Given the description of an element on the screen output the (x, y) to click on. 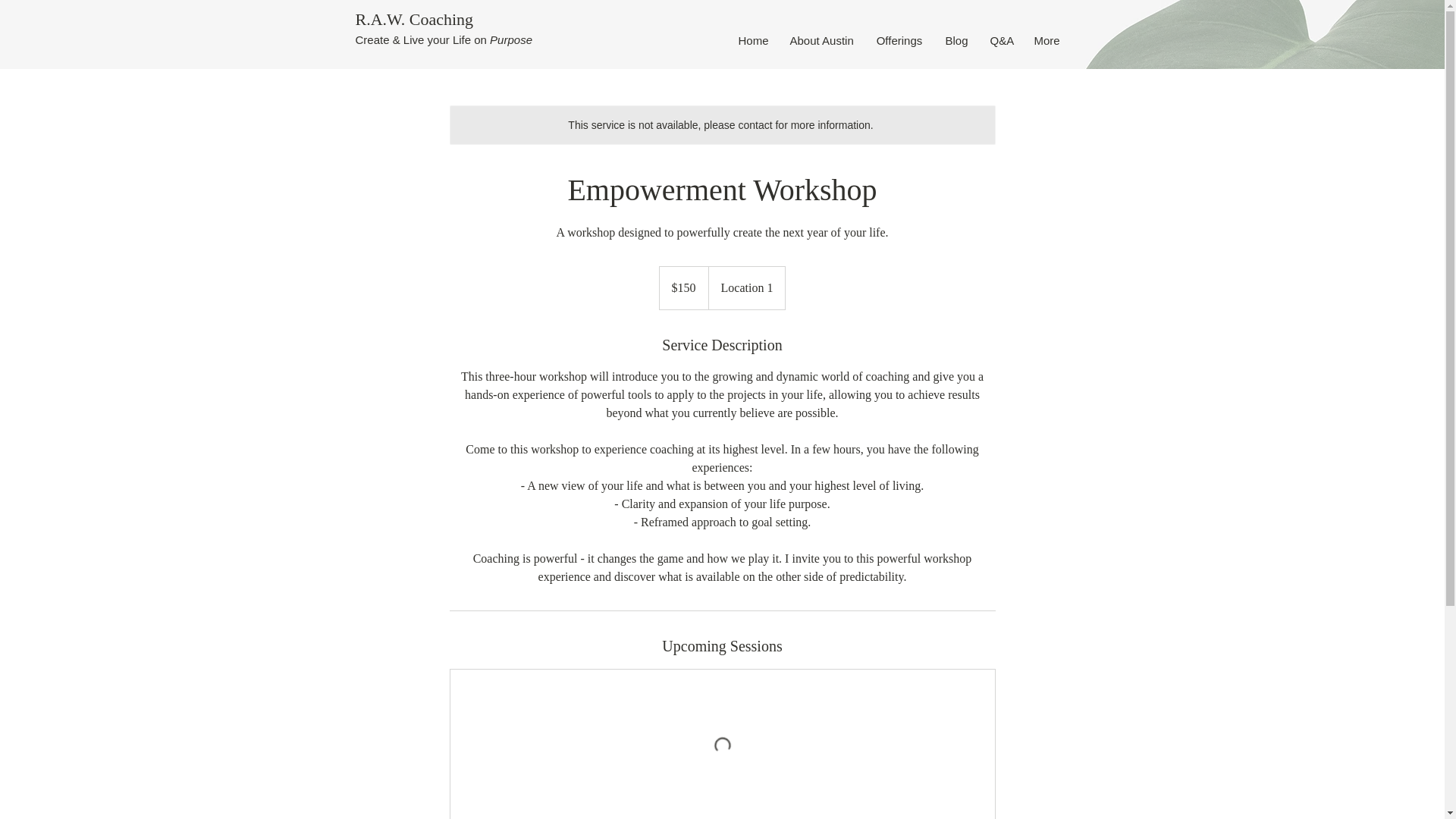
Offerings (898, 40)
About Austin (820, 40)
R.A.W. Coaching (414, 18)
Home (751, 40)
Blog (956, 40)
